Given the description of an element on the screen output the (x, y) to click on. 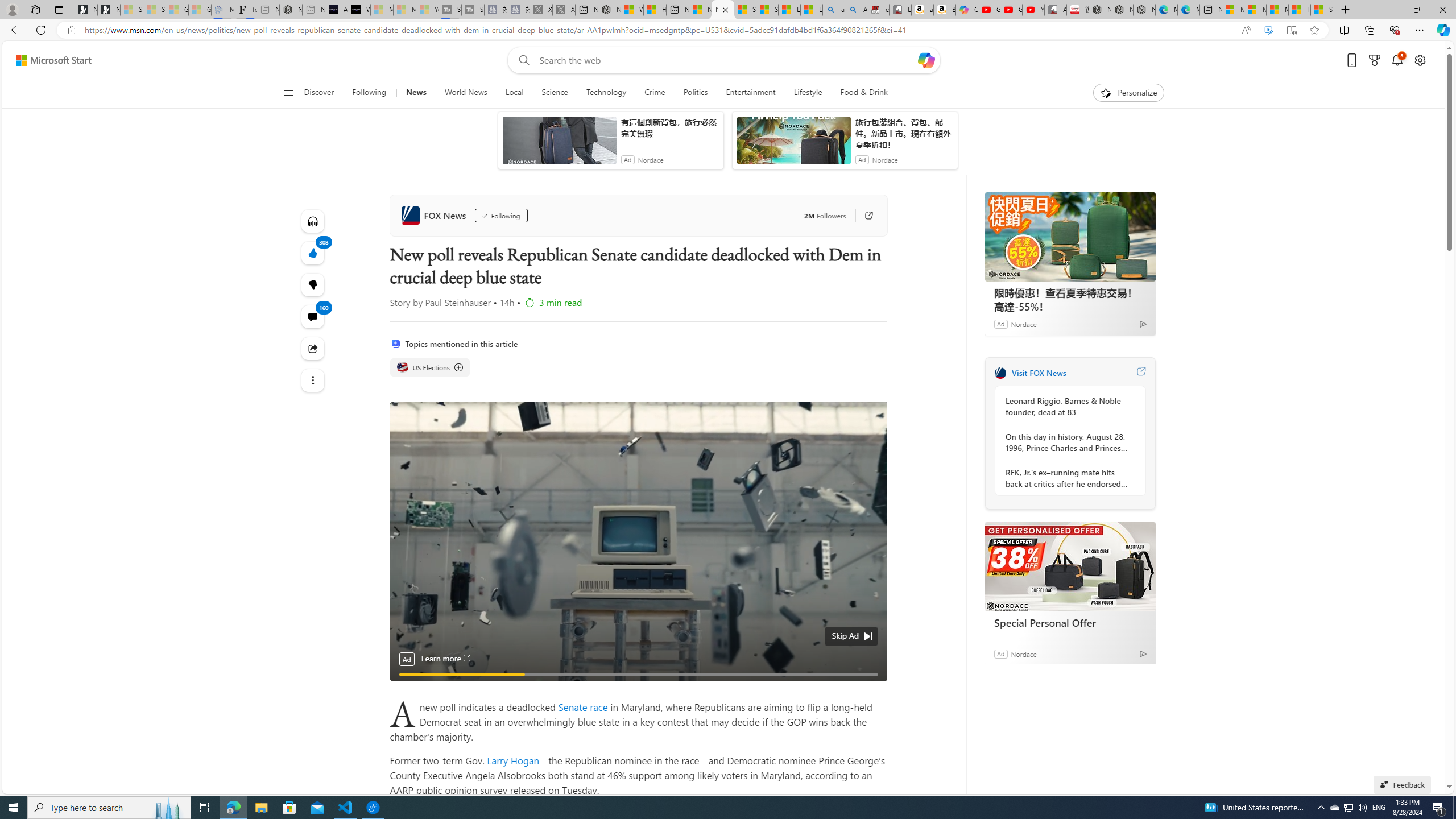
Special Personal Offer (1069, 622)
Microsoft Start - Sleeping (404, 9)
Entertainment (750, 92)
video progress bar (637, 674)
anim-content (793, 144)
To get missing image descriptions, open the context menu. (1105, 92)
Local (514, 92)
News (416, 92)
Web search (520, 60)
More like this308Fewer like thisView comments (312, 284)
